Given the description of an element on the screen output the (x, y) to click on. 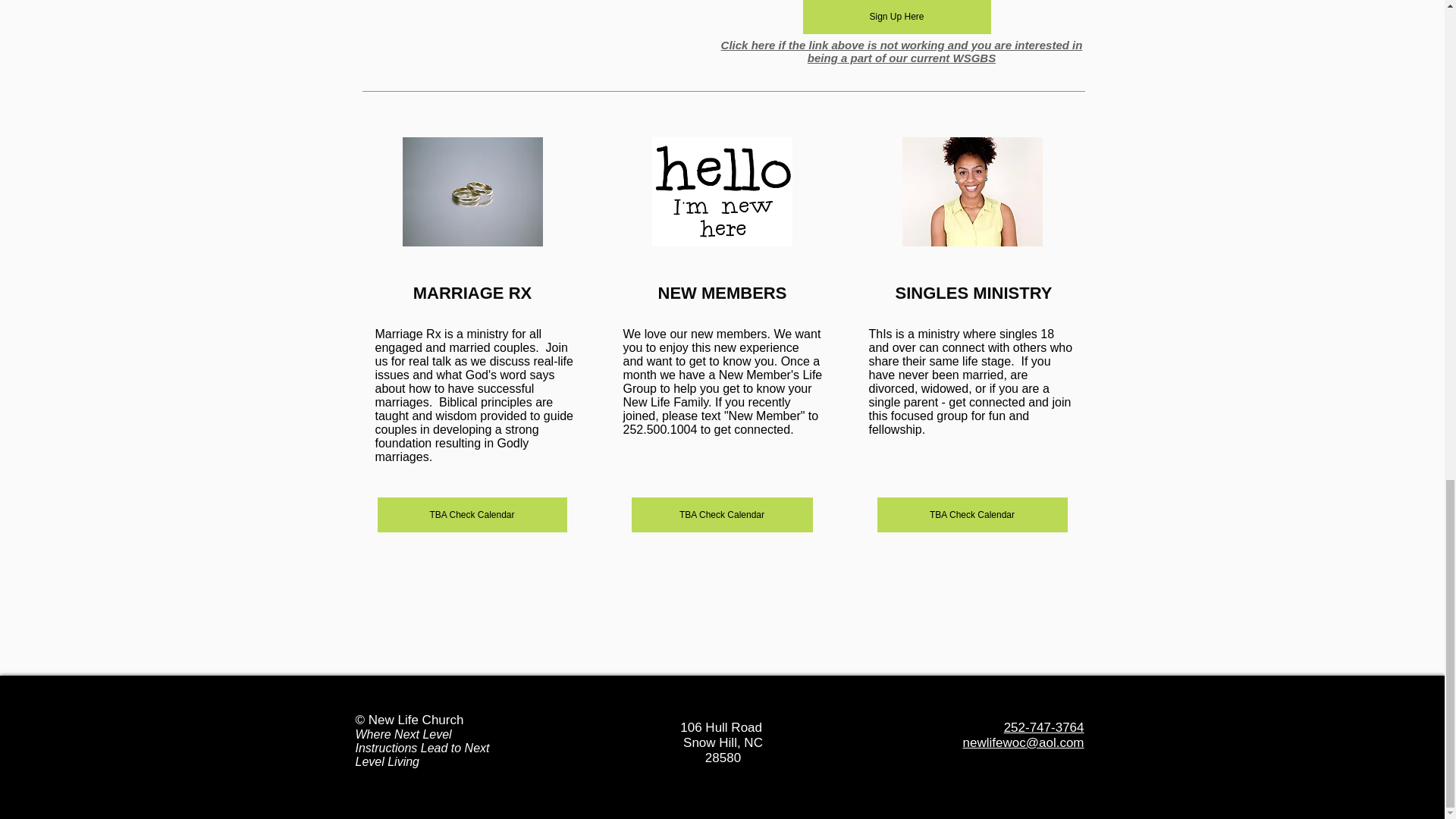
woman 13 (972, 191)
TBA Check Calendar (971, 514)
TBA Check Calendar (472, 514)
Wedding Car (722, 191)
Wedding Rings 2 (471, 191)
Sign Up Here (896, 17)
TBA Check Calendar (721, 514)
252-747-3764 (1044, 727)
